Given the description of an element on the screen output the (x, y) to click on. 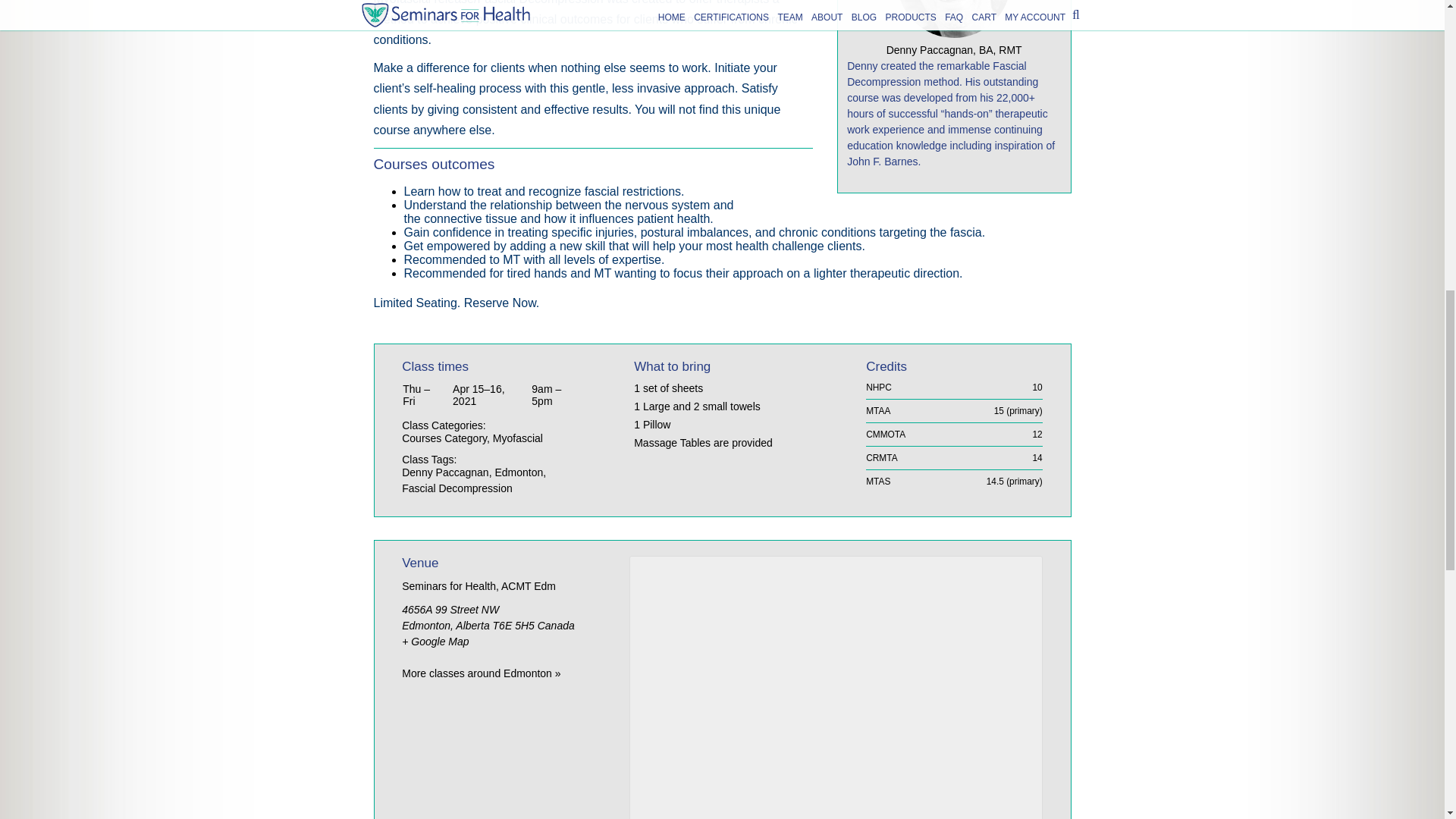
Edmonton (519, 472)
Courses Category (443, 438)
Seminars for Health, ACMT Edm (478, 585)
Fascial Decompression (456, 488)
Denny Paccagnan, BA, RMT (954, 29)
Denny Paccagnan (444, 472)
Alberta (472, 625)
Click to view a Google Map (434, 641)
Myofascial (518, 438)
Reserve Now. (502, 302)
